Given the description of an element on the screen output the (x, y) to click on. 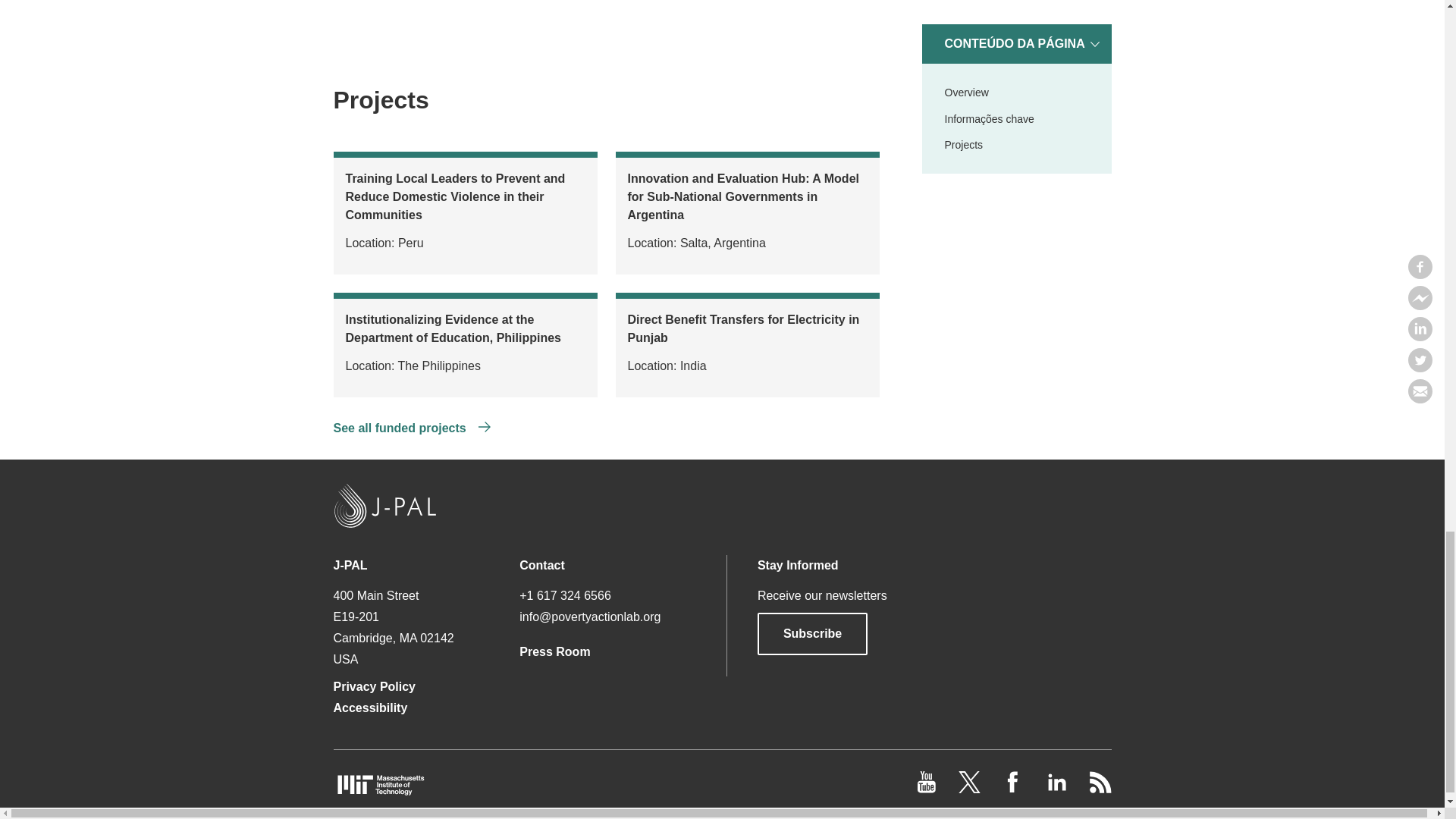
twitter (971, 788)
facebook (1015, 788)
LinkedIn (1057, 788)
rss feed (1099, 788)
youtube (927, 788)
